Given the description of an element on the screen output the (x, y) to click on. 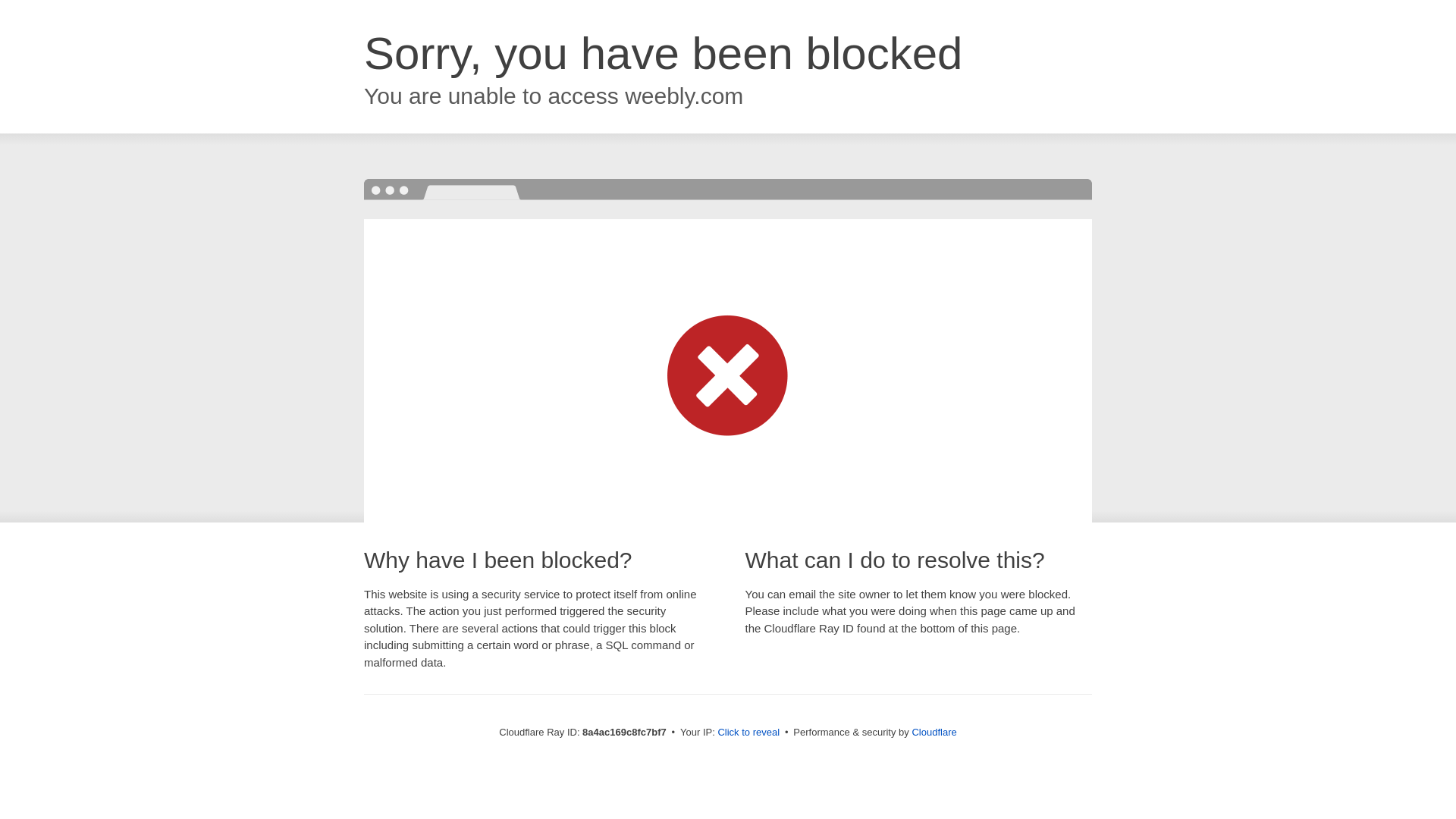
Click to reveal (747, 732)
Cloudflare (933, 731)
